Given the description of an element on the screen output the (x, y) to click on. 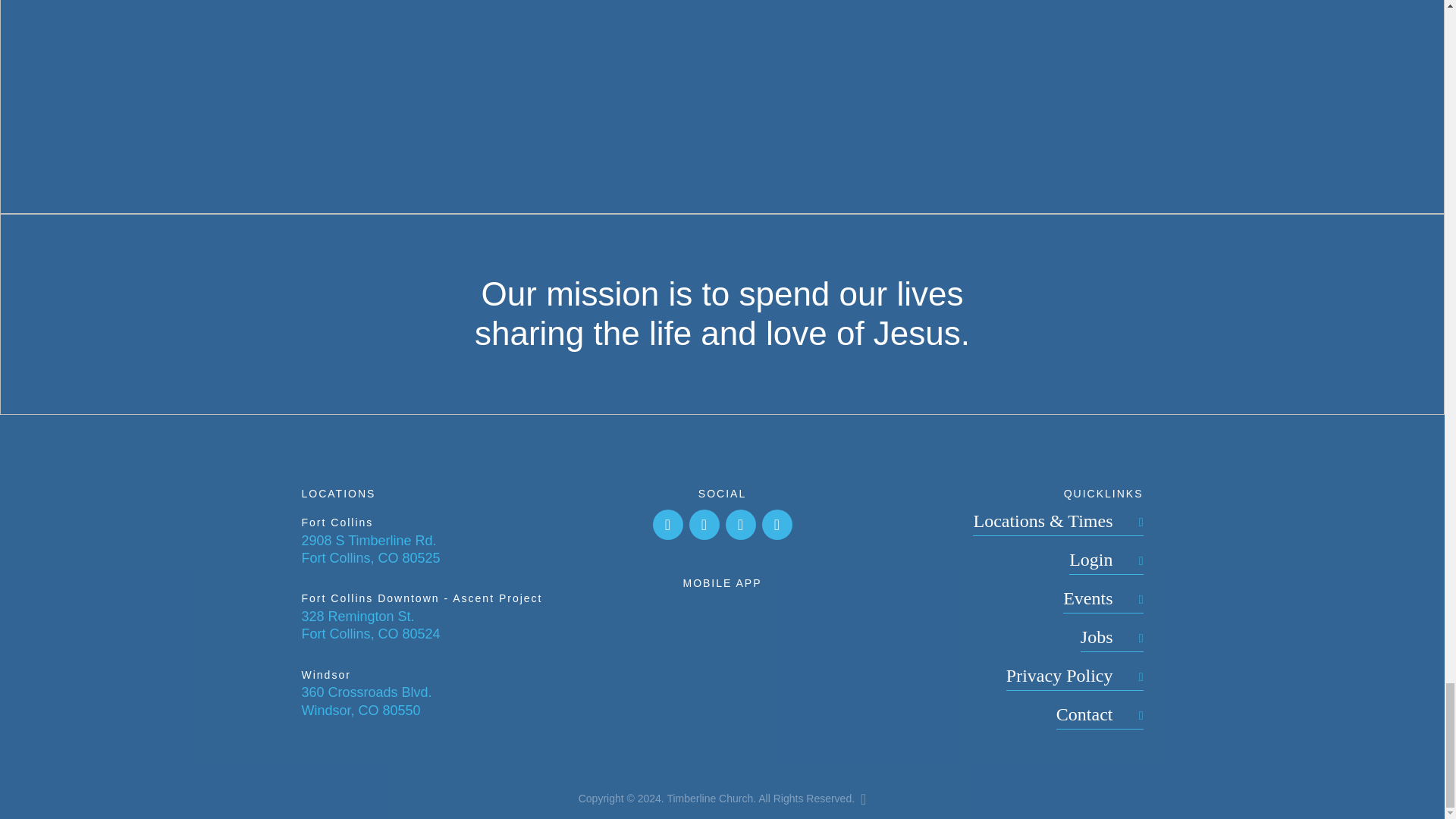
Twitter (776, 524)
Privacy Policy (1074, 677)
Facebook (667, 524)
Contact (1099, 715)
Instagram (703, 524)
Jobs (1111, 638)
Events (1102, 600)
YouTube (740, 524)
Login (1105, 560)
